Given the description of an element on the screen output the (x, y) to click on. 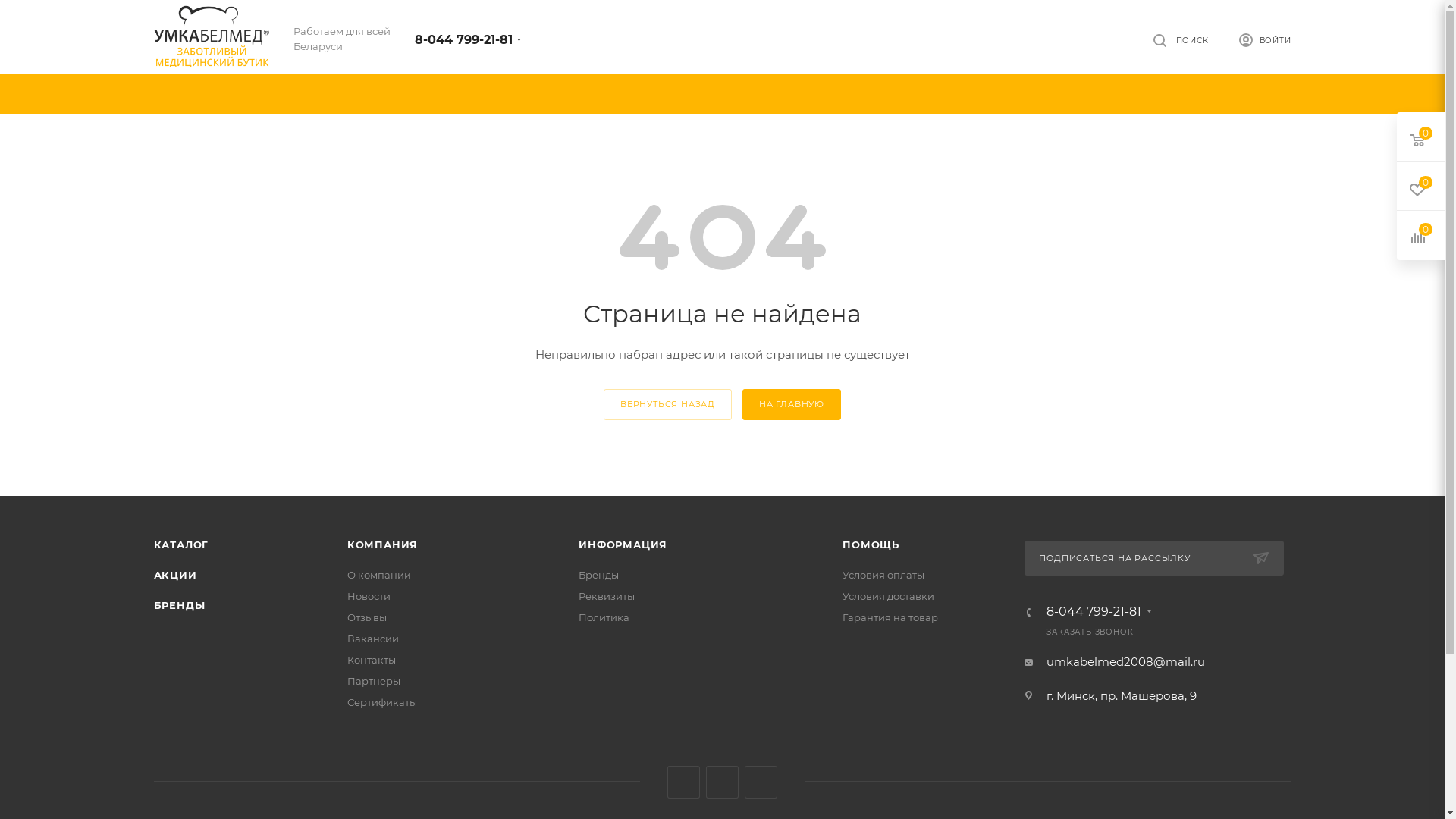
YouTube Element type: text (760, 781)
Instagram Element type: text (683, 781)
8-044 799-21-81 Element type: text (463, 39)
Telegram Element type: text (722, 781)
umkabelmed2008@mail.ru Element type: text (1125, 661)
8-044 799-21-81 Element type: text (1093, 611)
